Given the description of an element on the screen output the (x, y) to click on. 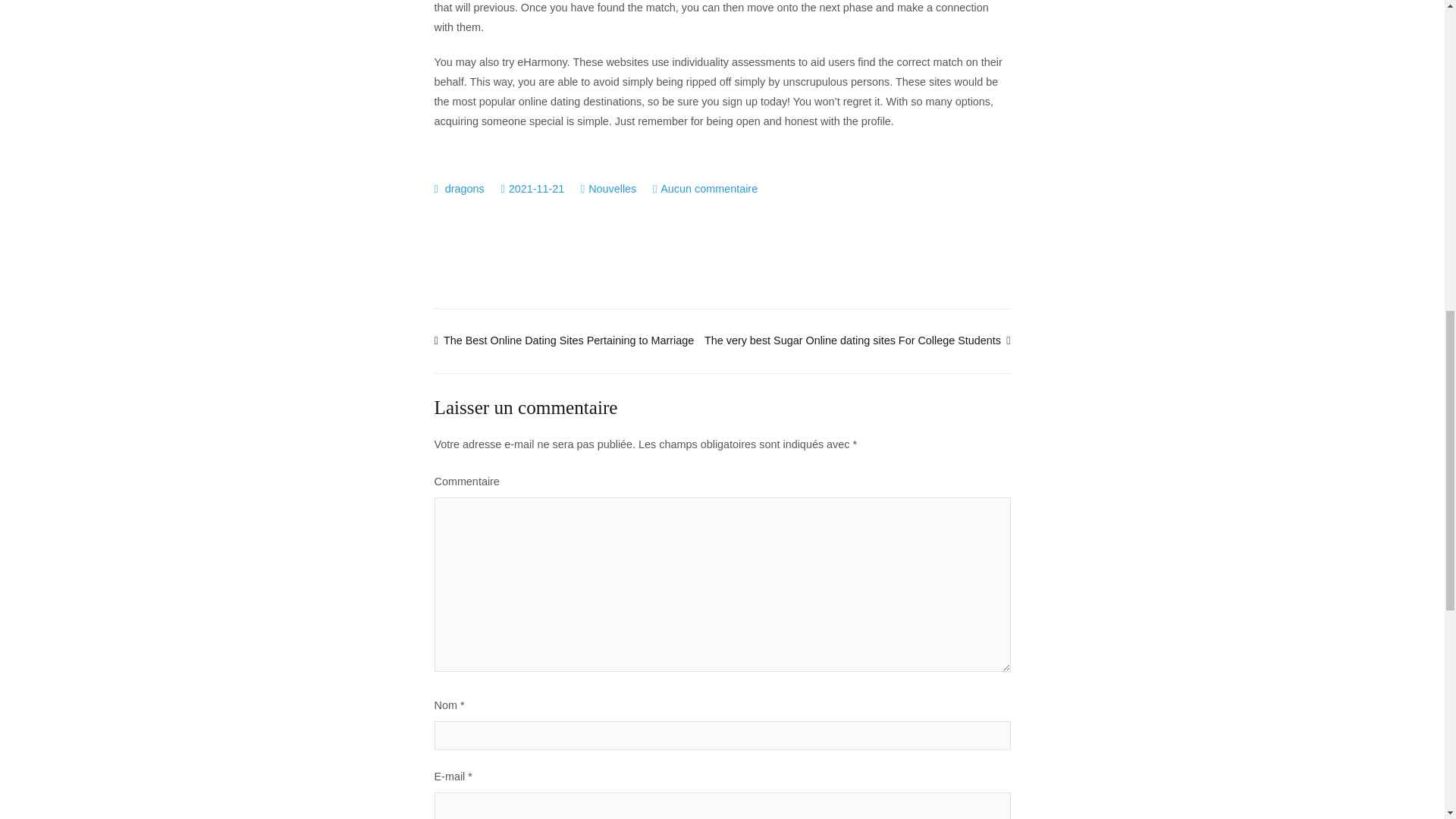
dragons (464, 188)
The Best Online Dating Sites Pertaining to Marriage (563, 340)
The very best Sugar Online dating sites For College Students (857, 340)
Nouvelles (612, 188)
2021-11-21 (536, 188)
